Given the description of an element on the screen output the (x, y) to click on. 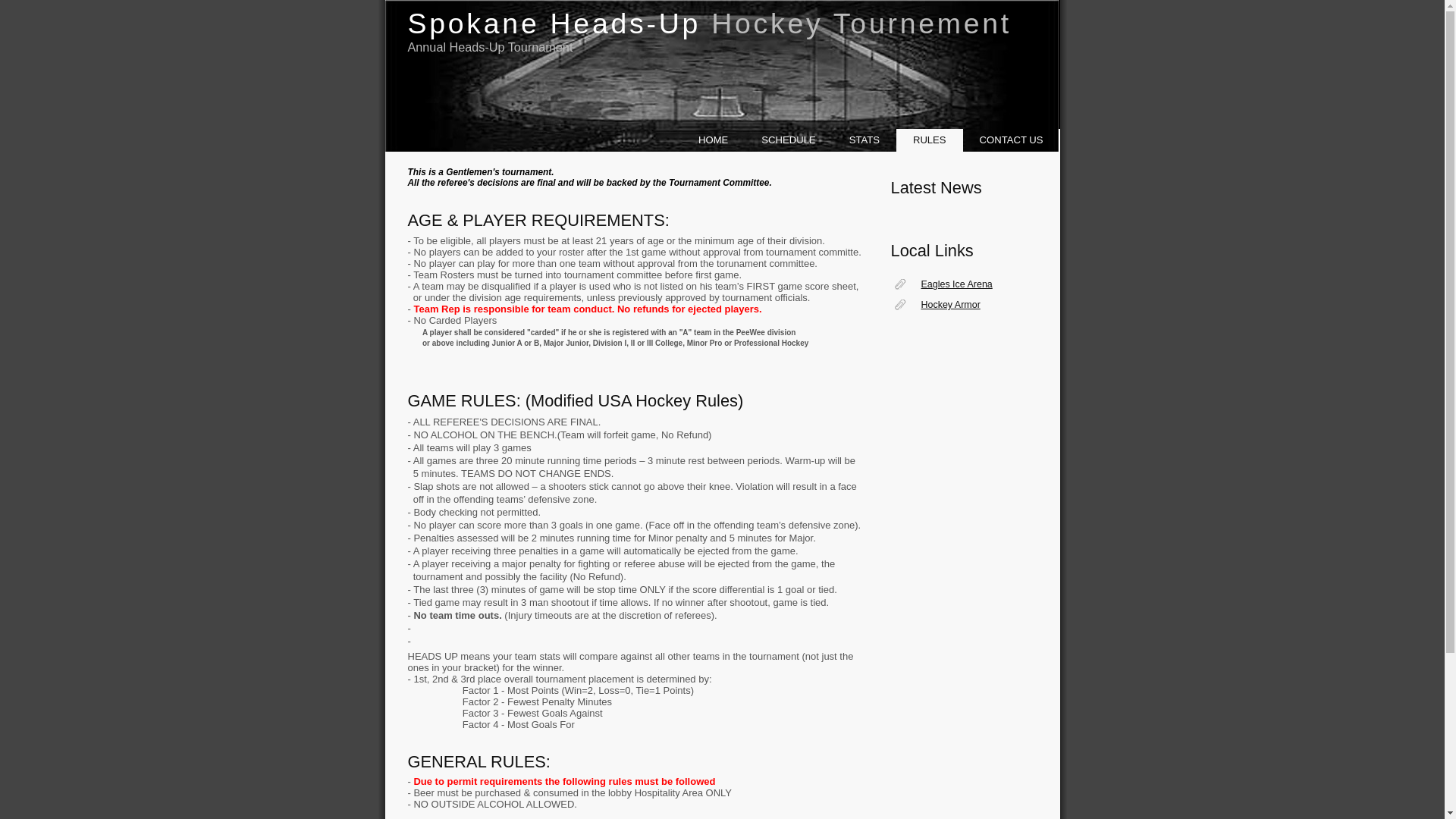
Hockey Armor (957, 304)
RULES (931, 142)
STATS (866, 140)
HOME (714, 140)
CONTACT US (1013, 140)
SCHEDULE (790, 140)
Spokane Heads-Up Hockey Tournement (709, 19)
Eagles Ice Arena (957, 284)
